Given the description of an element on the screen output the (x, y) to click on. 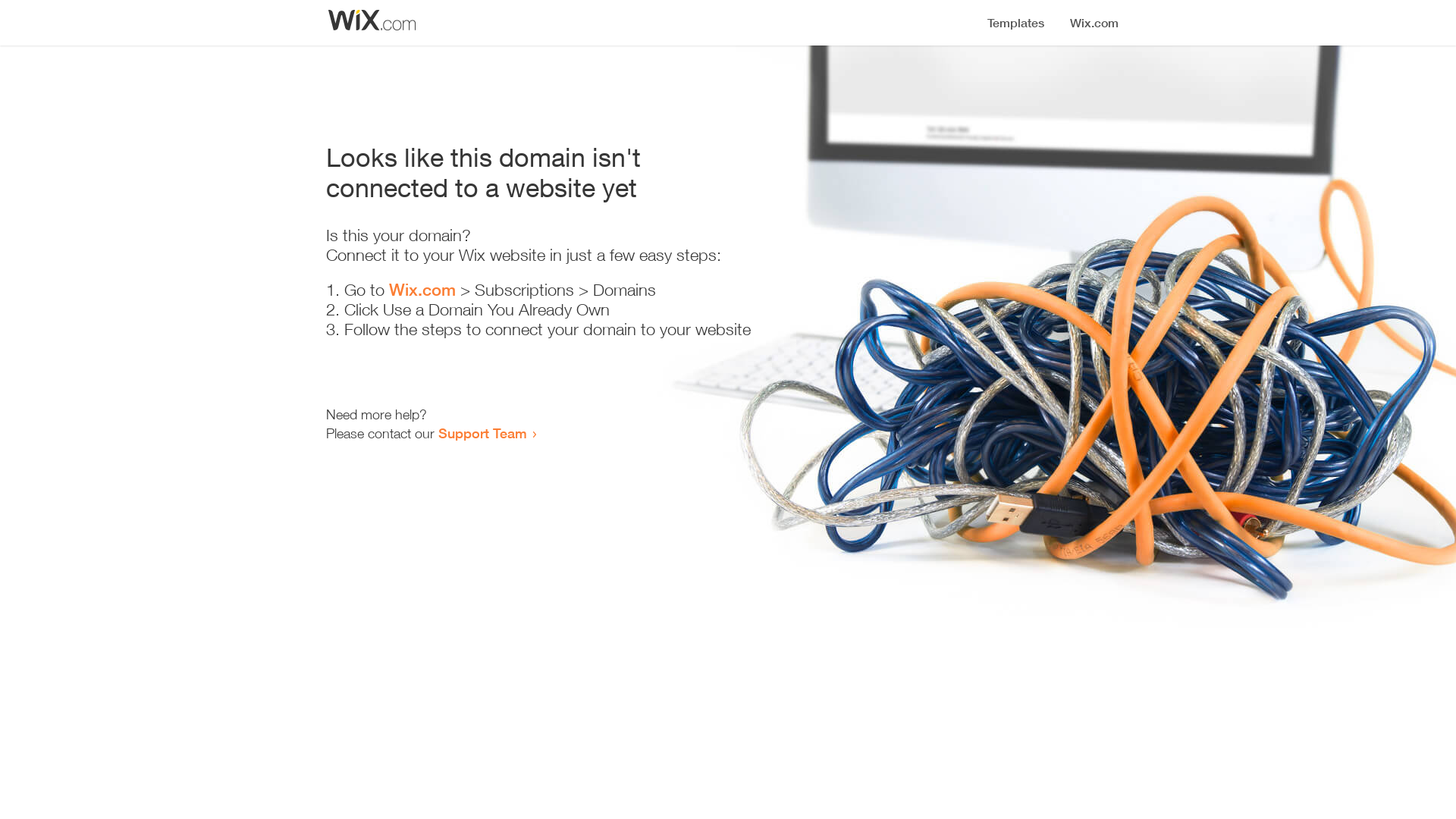
Wix.com Element type: text (422, 289)
Support Team Element type: text (482, 432)
